Given the description of an element on the screen output the (x, y) to click on. 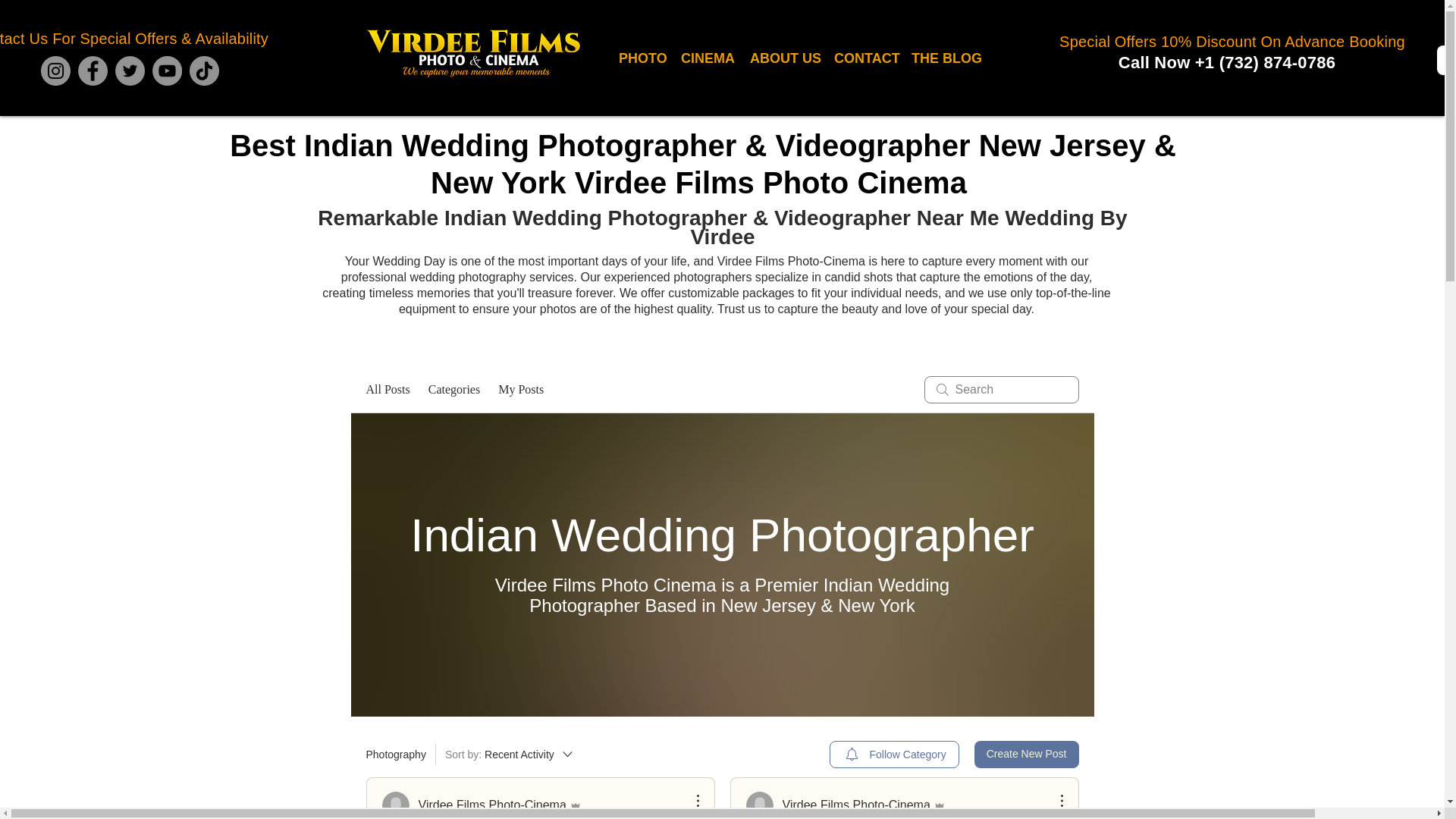
CONTACT (865, 58)
Create New Post (1026, 754)
PHOTO (641, 58)
THE BLOG (944, 58)
Categories (454, 389)
ABOUT US (510, 754)
Virdee Films Photo-Cinema (784, 58)
My Posts (844, 805)
Virdee Films Photo-Cinema (520, 389)
CINEMA (480, 805)
All Posts (707, 58)
Follow Category (387, 389)
